Given the description of an element on the screen output the (x, y) to click on. 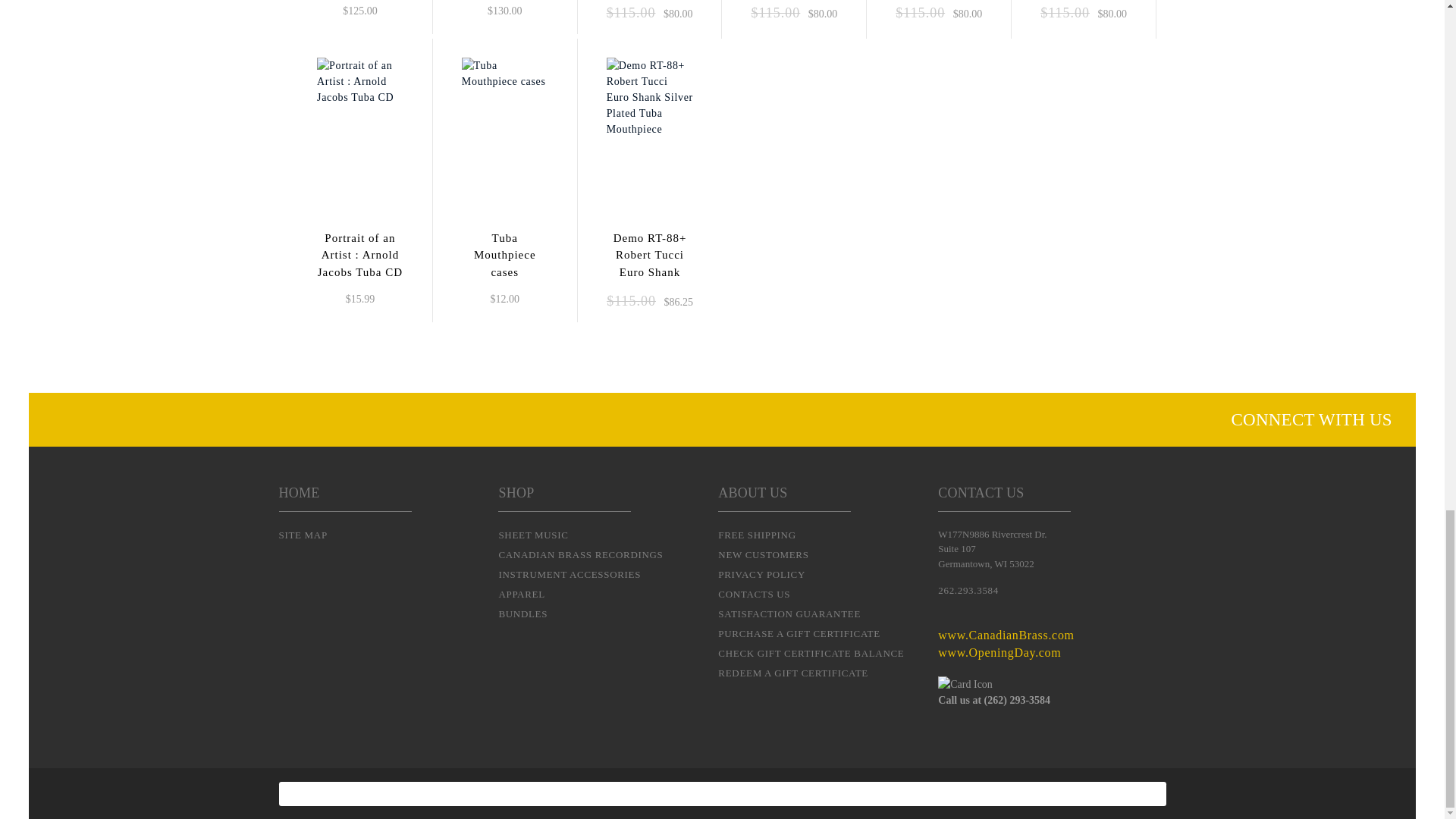
Tuba Mouthpiece cases (504, 73)
Portrait of an Artist : Arnold Jacobs Tuba CD (360, 81)
